Given the description of an element on the screen output the (x, y) to click on. 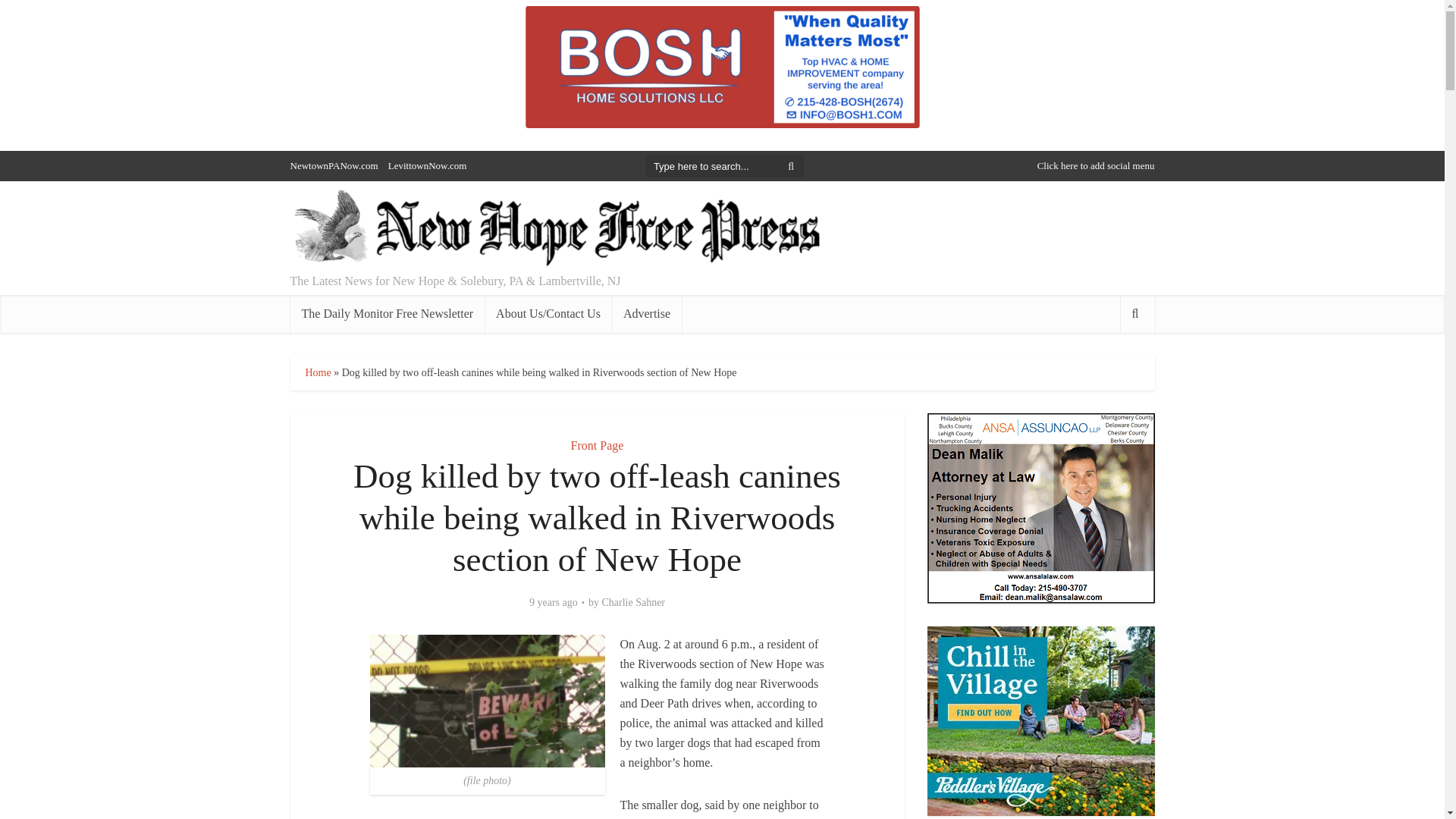
New Hope Free Press (555, 228)
Advertise (646, 313)
Home (317, 372)
Type here to search... (724, 165)
Click here to add social menu (1095, 165)
The Daily Monitor Free Newsletter (386, 313)
NewtownPANow.com (333, 165)
LevittownNow.com (427, 165)
Front Page (597, 445)
Type here to search... (724, 165)
Charlie Sahner (633, 602)
